Given the description of an element on the screen output the (x, y) to click on. 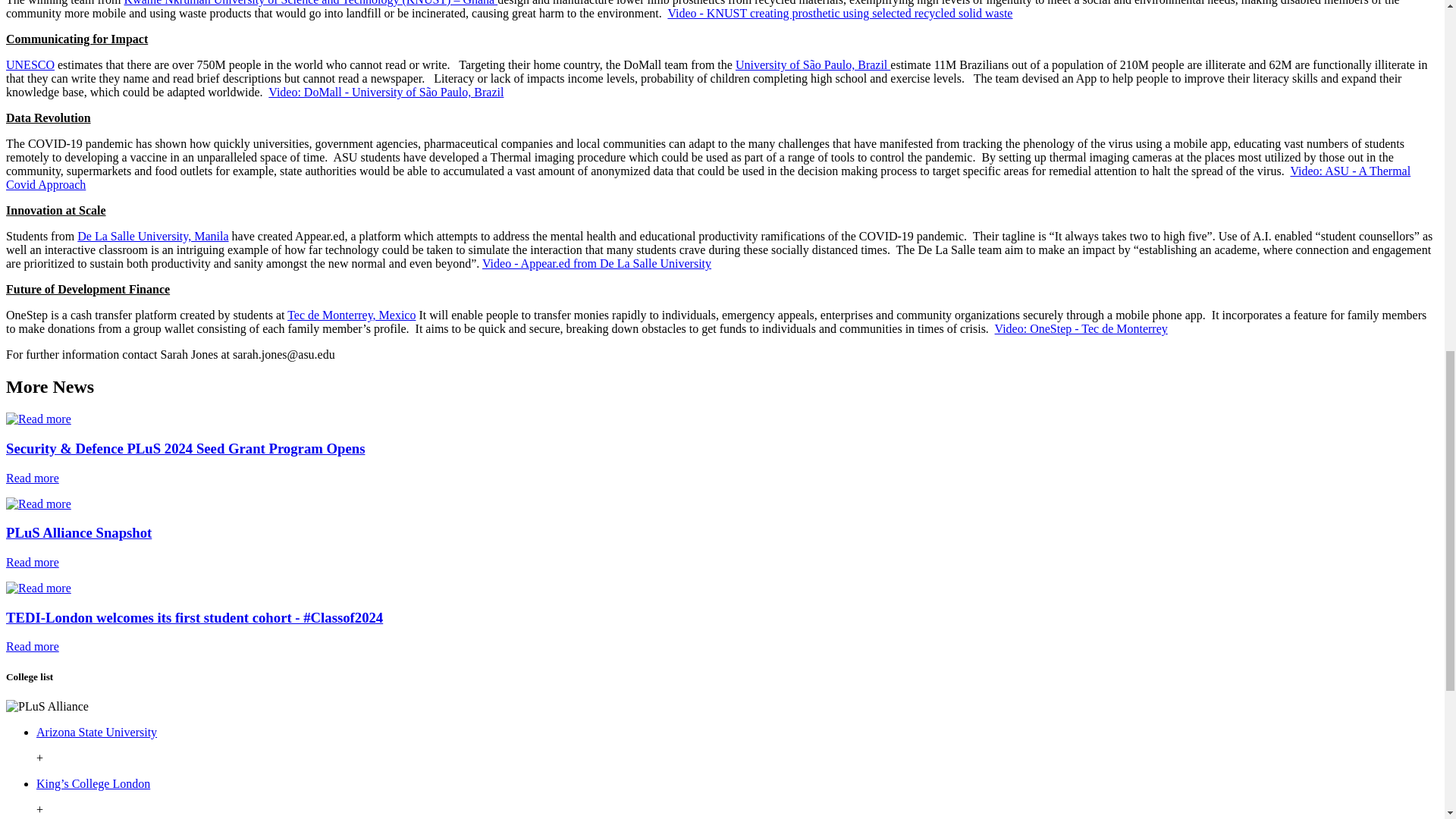
Video: ASU - A Thermal Covid Approach (707, 177)
Link opens in new window (92, 783)
Tec de Monterrey, Mexico (350, 314)
De La Salle University, Manila (152, 236)
UNESCO (30, 64)
Link opens in new window (96, 731)
Video - Appear.ed from De La Salle University (596, 263)
